Given the description of an element on the screen output the (x, y) to click on. 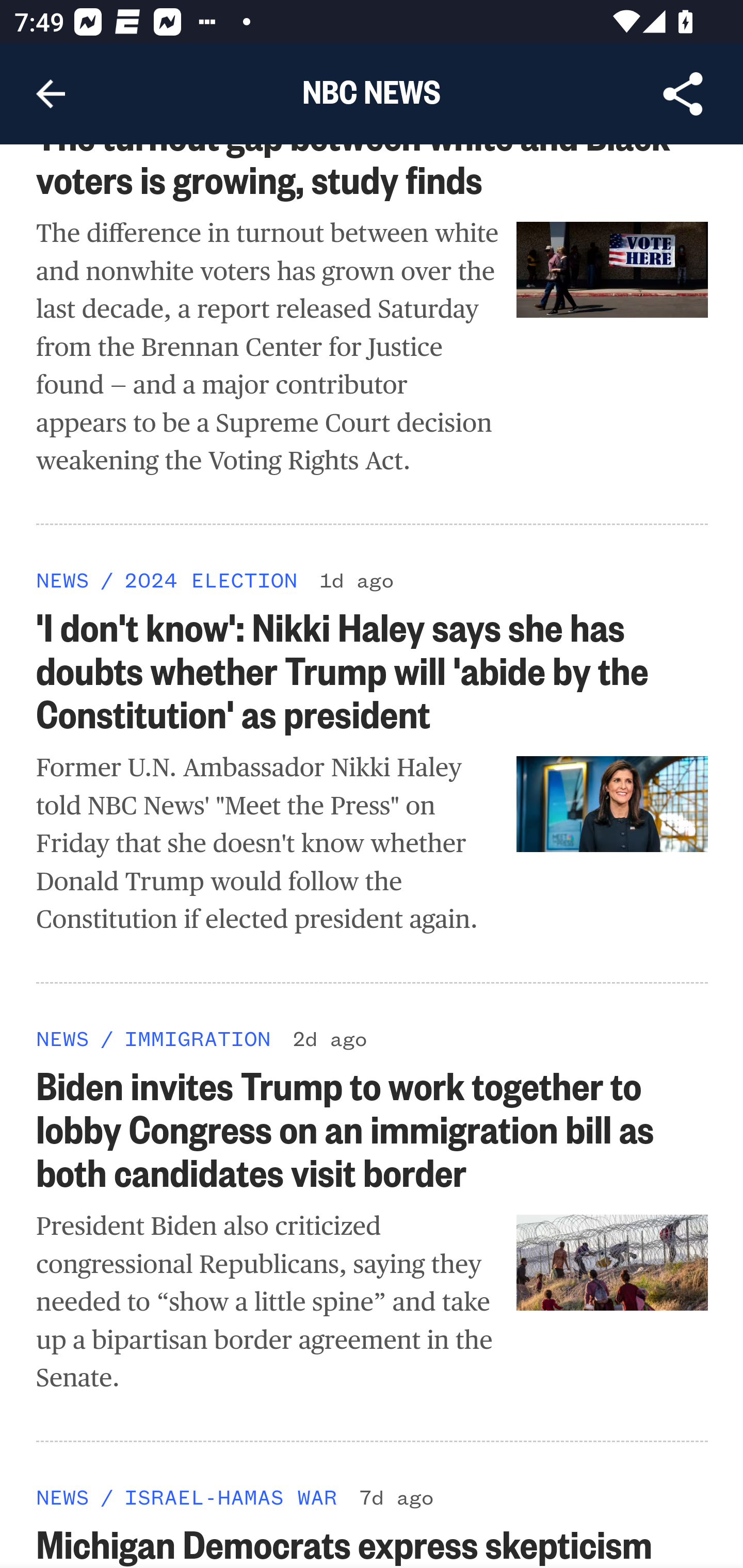
Navigate up (50, 93)
Share Article, button (683, 94)
NEWS NEWS NEWS (63, 579)
2024 ELECTION 2024 ELECTION 2024 ELECTION (209, 579)
nikki-haley-trump-constitution-rcna141372 (612, 803)
NEWS NEWS NEWS (63, 1037)
IMMIGRATION IMMIGRATION IMMIGRATION (196, 1037)
NEWS NEWS NEWS (63, 1496)
ISRAEL-HAMAS WAR ISRAEL-HAMAS WAR ISRAEL-HAMAS WAR (229, 1496)
